Given the description of an element on the screen output the (x, y) to click on. 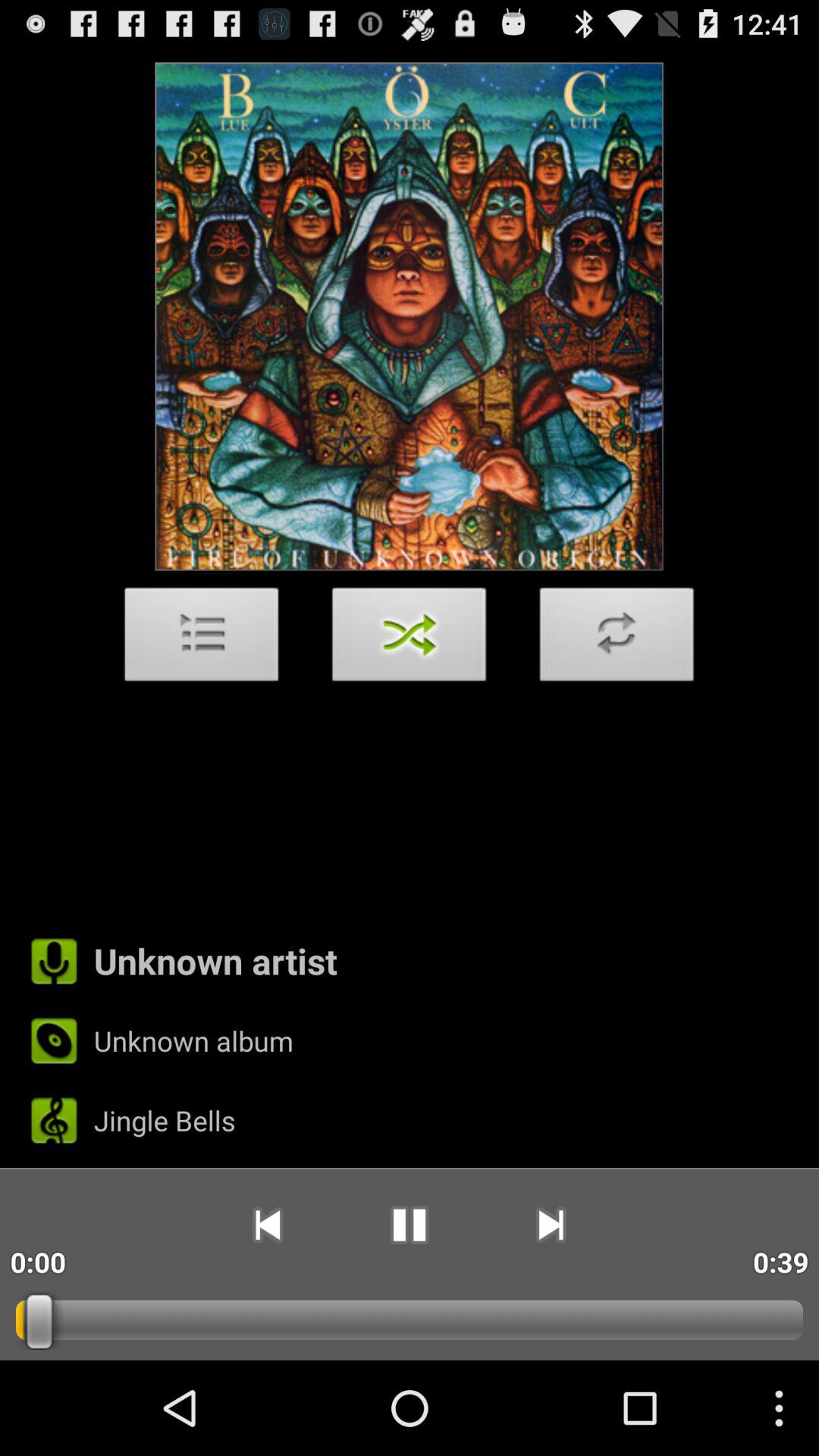
turn off the icon next to 0:00 (267, 1224)
